Given the description of an element on the screen output the (x, y) to click on. 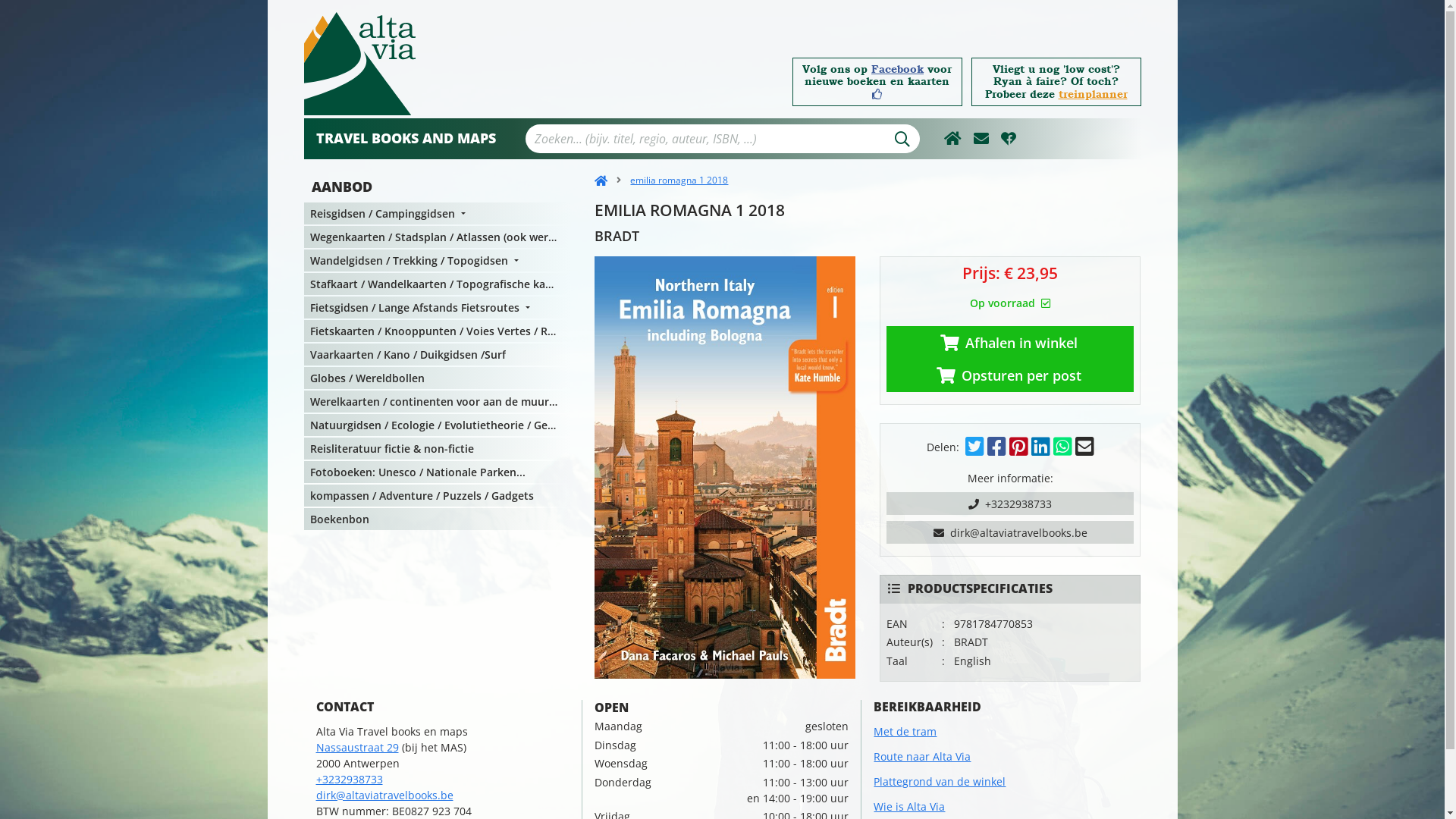
dirk@altaviatravelbooks.be Element type: text (383, 794)
Volg ons op Facebook voor nieuwe boeken en kaarten Element type: text (876, 81)
Natuurgidsen / Ecologie / Evolutietheorie / Geologie Element type: text (436, 425)
AANBOD Element type: text (437, 186)
Wegenkaarten / Stadsplan / Atlassen (ook wereldatlassen ) Element type: text (436, 236)
Wie is Alta Via Element type: text (908, 806)
Boekenbon Element type: text (436, 519)
Home Element type: hover (600, 180)
kompassen / Adventure / Puzzels / Gadgets Element type: text (436, 495)
+3232938733 Element type: text (1009, 503)
emilia romagna 1 2018 Element type: hover (724, 467)
Fietsgidsen / Lange Afstands Fietsroutes Element type: text (436, 307)
Route naar Alta Via Element type: text (921, 756)
Fietskaarten / Knooppunten / Voies Vertes / Ravel Element type: text (436, 331)
+3232938733 Element type: text (348, 778)
Afhalen in winkel Element type: text (1009, 342)
Vaarkaarten / Kano / Duikgidsen /Surf Element type: text (436, 354)
Reisliteratuur fictie & non-fictie Element type: text (436, 448)
Wandelgidsen / Trekking / Topogidsen Element type: text (436, 260)
Reisgidsen / Campinggidsen Element type: text (436, 213)
dirk@altaviatravelbooks.be Element type: text (1009, 531)
Met de tram Element type: text (904, 731)
emilia romagna 1 2018 Element type: text (667, 180)
Globes / Wereldbollen Element type: text (436, 378)
Stafkaart / Wandelkaarten / Topografische kaarten Element type: text (436, 283)
Opsturen per post Element type: text (1009, 375)
Alta Via Travel books en maps Element type: hover (358, 63)
Nassaustraat 29 Element type: text (356, 747)
Fotoboeken: Unesco / Nationale Parken... Element type: text (436, 472)
Plattegrond van de winkel Element type: text (939, 781)
